Given the description of an element on the screen output the (x, y) to click on. 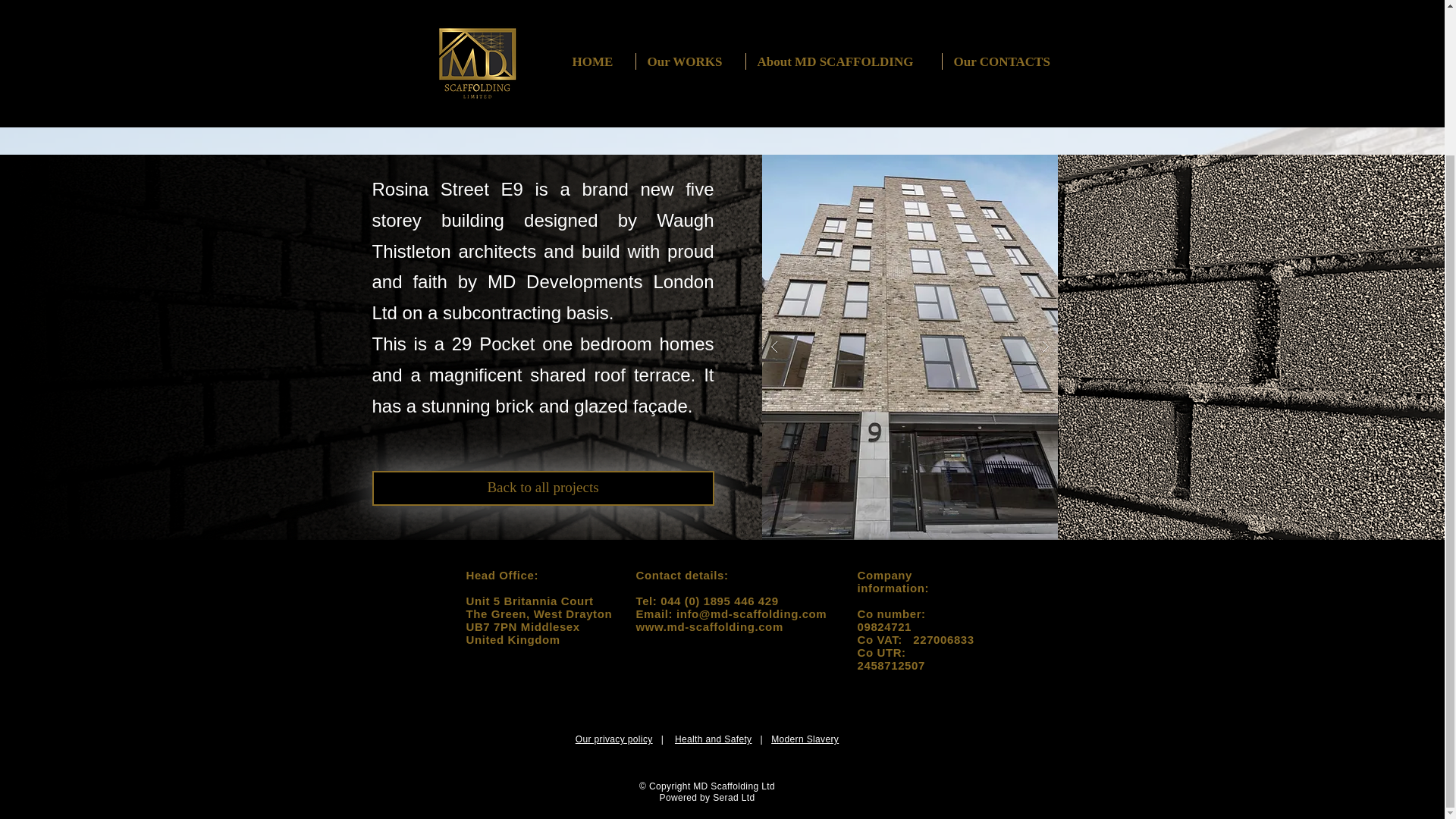
Our privacy policy (613, 738)
Health and Safety (713, 738)
www.md-scaffolding.com (708, 626)
Modern Slavery (804, 738)
Back to all projects (542, 488)
